Given the description of an element on the screen output the (x, y) to click on. 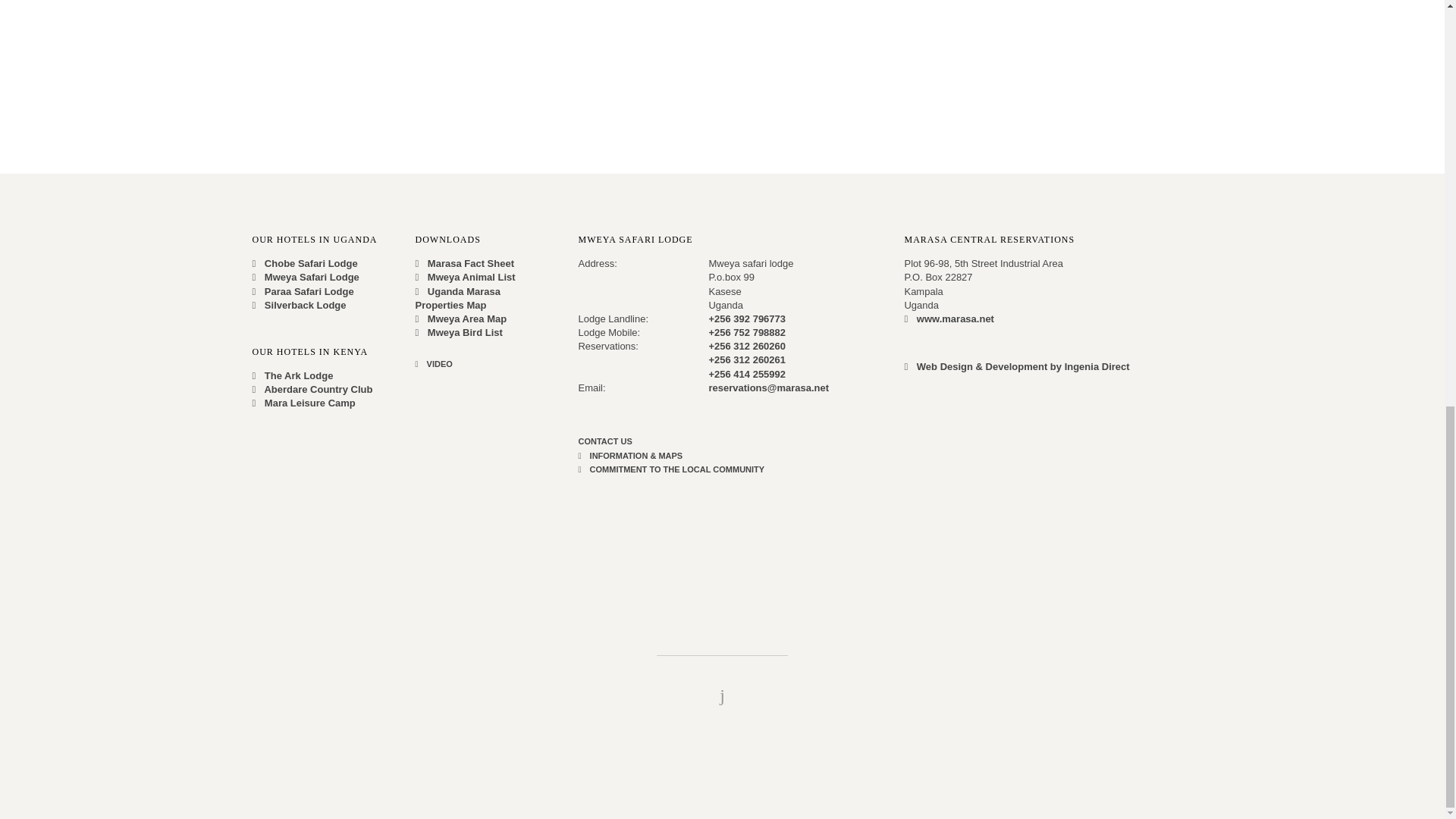
Paraa Safari Lodge (302, 290)
Mara Leisure Camp (303, 402)
Mweya Safari Lodge (304, 276)
Chobe Safari Lodge (303, 263)
The Ark Lodge (292, 375)
Silverback Lodge (298, 305)
Aberdare Country Club (311, 389)
Marasa Fact Sheet (463, 263)
